Given the description of an element on the screen output the (x, y) to click on. 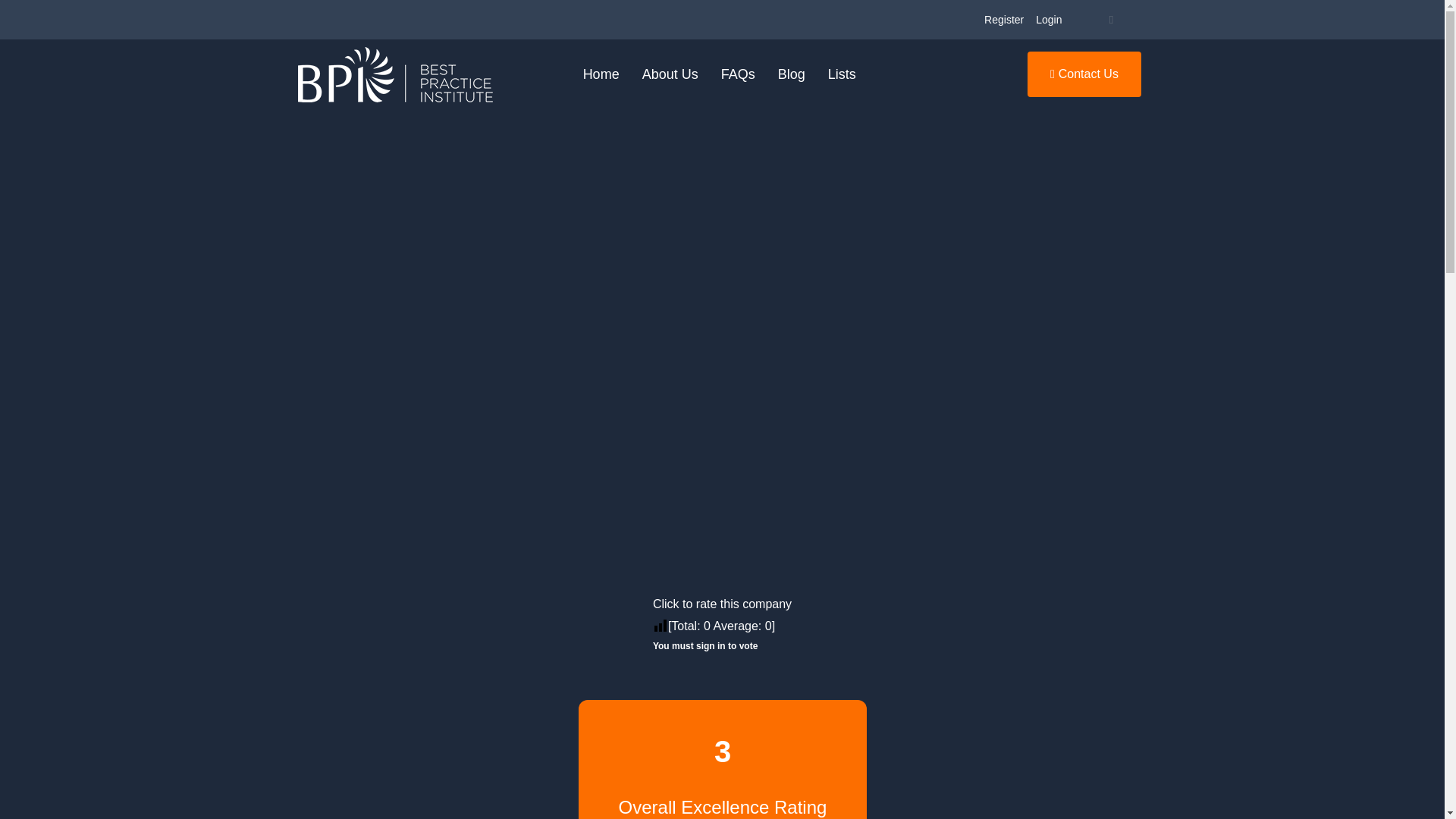
Blog (791, 74)
Register (1003, 19)
Lists (841, 74)
Login (1048, 19)
FAQs (738, 74)
Cart (1110, 19)
Home (601, 74)
Contact Us (1084, 74)
About Us (670, 74)
